Given the description of an element on the screen output the (x, y) to click on. 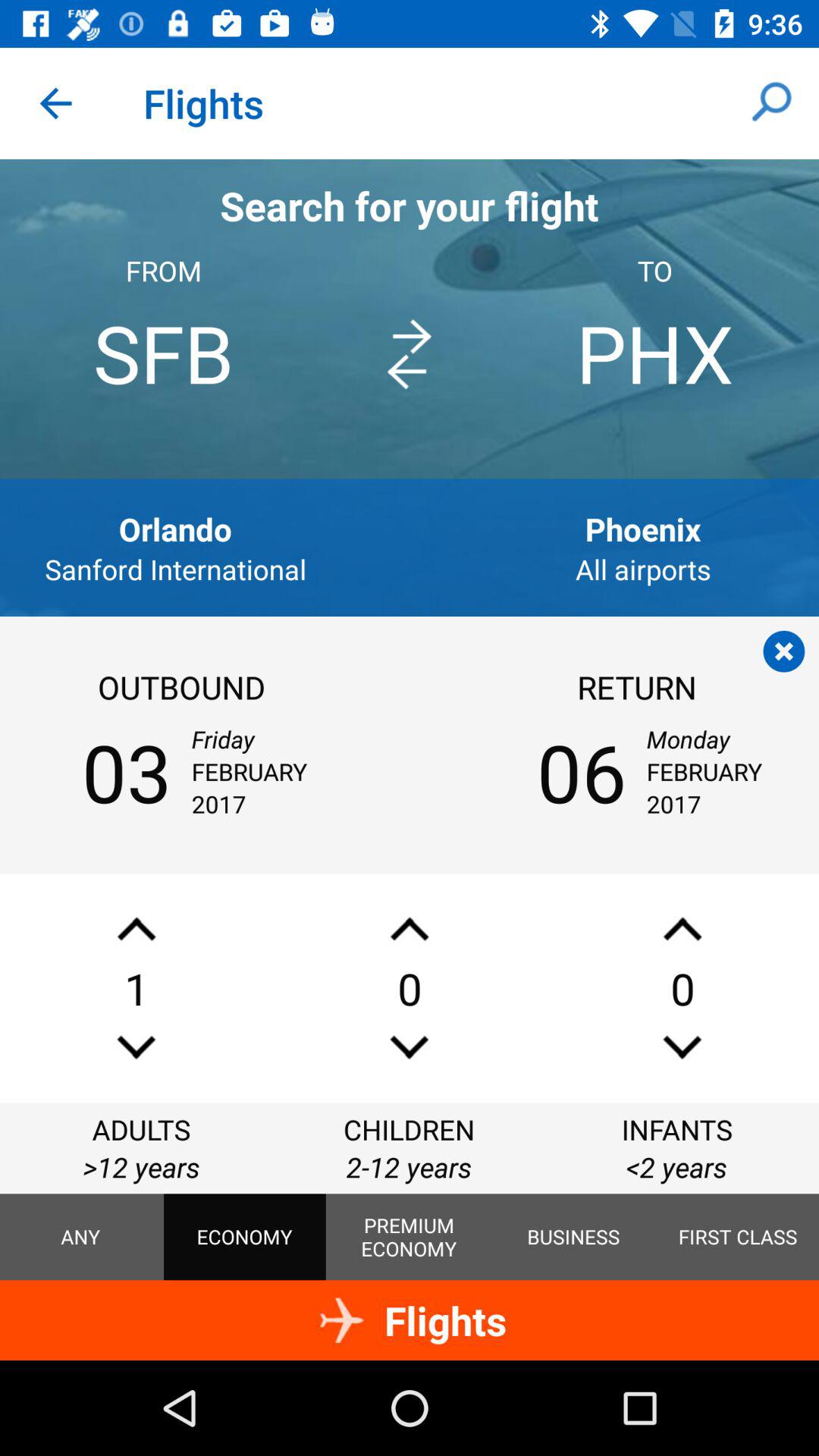
add another person (136, 928)
